Given the description of an element on the screen output the (x, y) to click on. 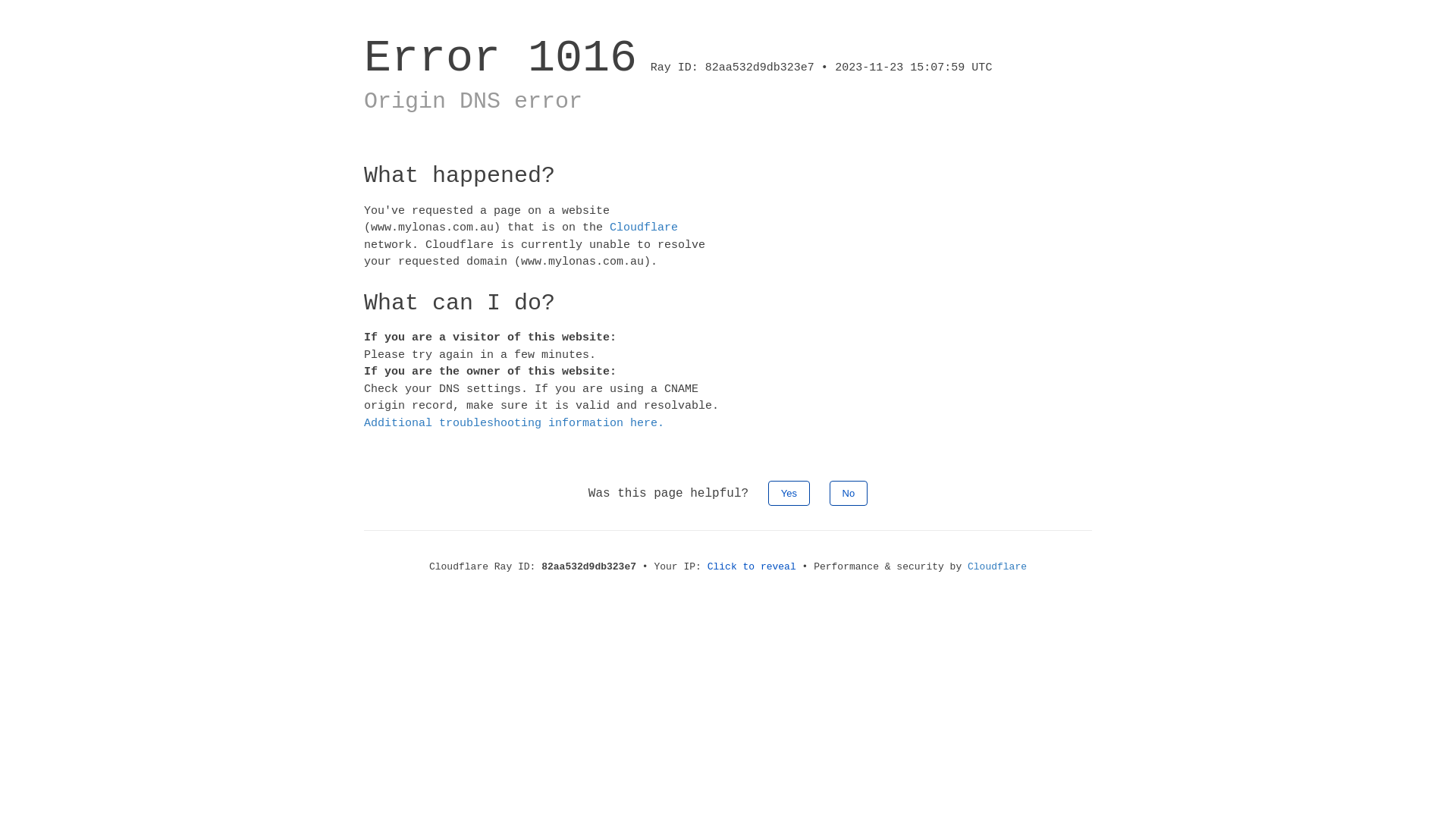
Additional troubleshooting information here. Element type: text (514, 423)
Yes Element type: text (788, 492)
Cloudflare Element type: text (996, 566)
Click to reveal Element type: text (751, 566)
Cloudflare Element type: text (643, 227)
No Element type: text (848, 492)
